Given the description of an element on the screen output the (x, y) to click on. 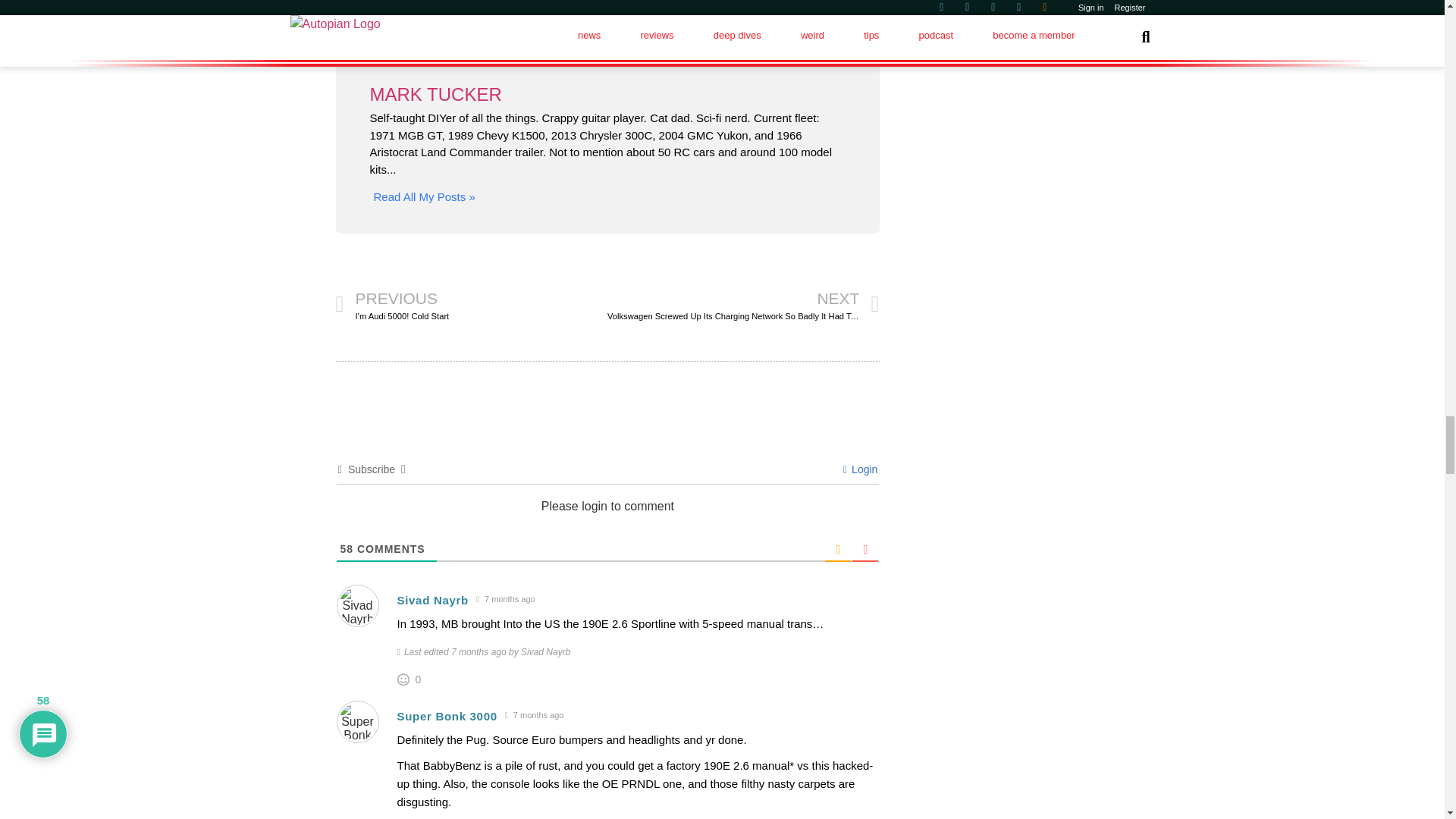
December 23, 2023 12:16 am (533, 715)
December 24, 2023 1:00 am (504, 599)
58 (346, 548)
0 (418, 679)
